Given the description of an element on the screen output the (x, y) to click on. 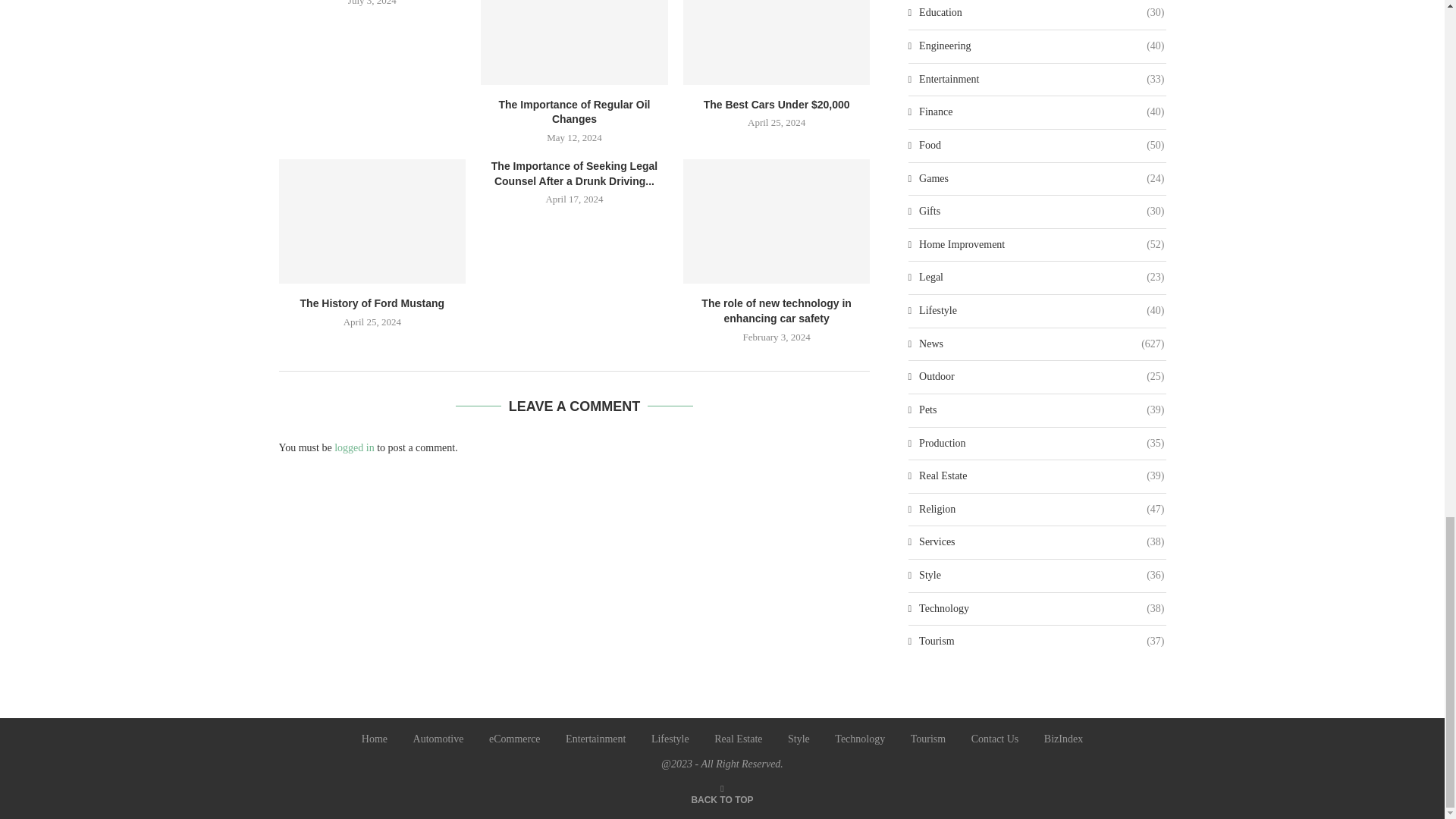
The role of new technology in enhancing car safety (776, 220)
The History of Ford Mustang (372, 220)
The Importance of Regular Oil Changes (574, 42)
